Given the description of an element on the screen output the (x, y) to click on. 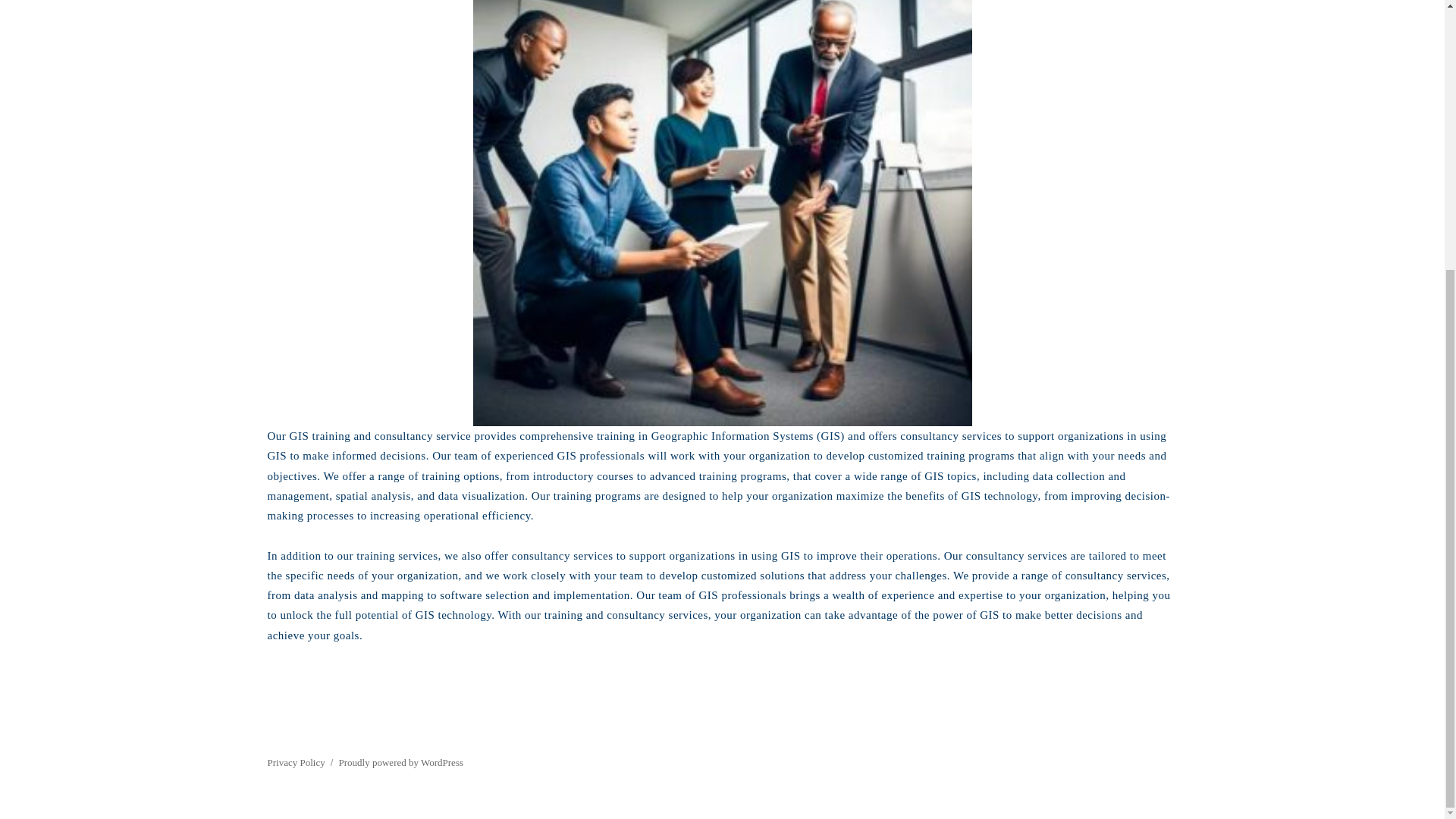
Proudly powered by WordPress (401, 762)
Privacy Policy (295, 762)
